Given the description of an element on the screen output the (x, y) to click on. 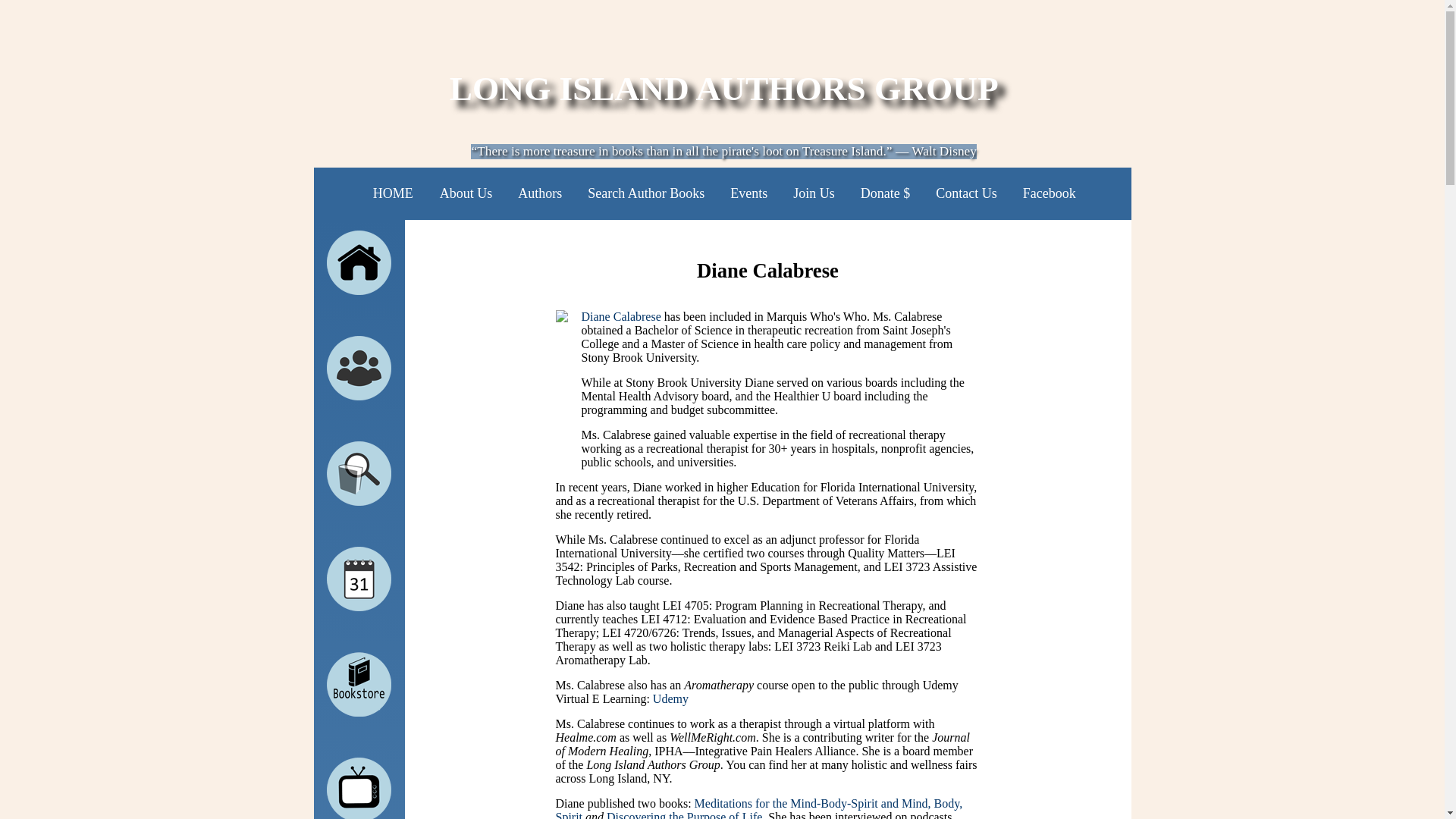
HOME (392, 192)
Udemy (670, 698)
Meditations for the Mind-Body-Spirit and Mind, Body, Spirit (758, 807)
LIAG Bookstore (358, 683)
View Upcoming Events (358, 578)
Join Us (813, 192)
See our authors on the 'Writers's Dream' (358, 788)
Search Author Books (646, 192)
Diane Calabrese (620, 316)
View Author Profiles (358, 367)
Discovering the Purpose of Life (684, 814)
Contact Us (966, 192)
Home Page (358, 262)
About Us (466, 192)
Facebook (1049, 192)
